Given the description of an element on the screen output the (x, y) to click on. 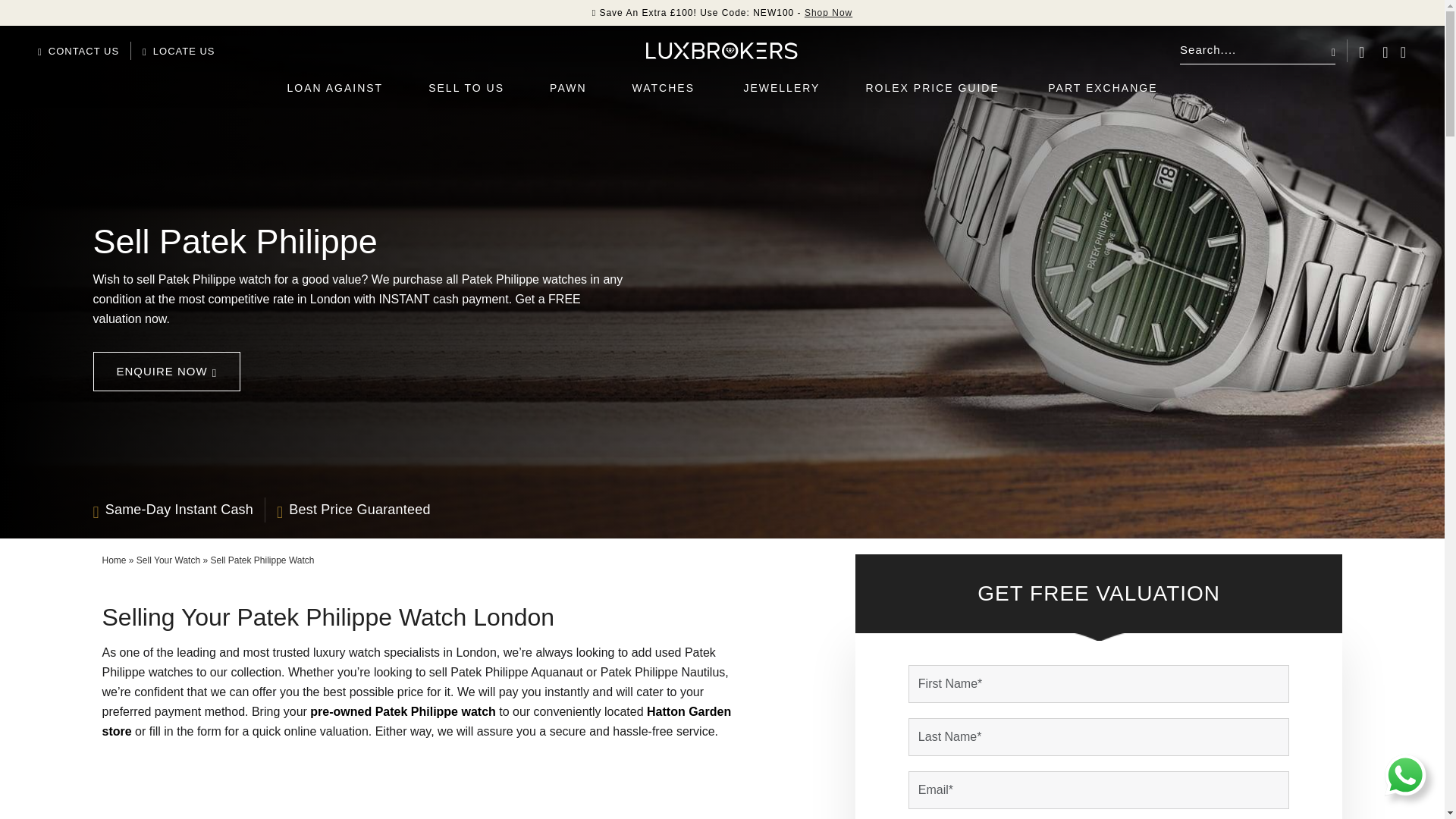
Shop Now (828, 12)
LOCATE US (178, 50)
CONTACT US (78, 50)
